Given the description of an element on the screen output the (x, y) to click on. 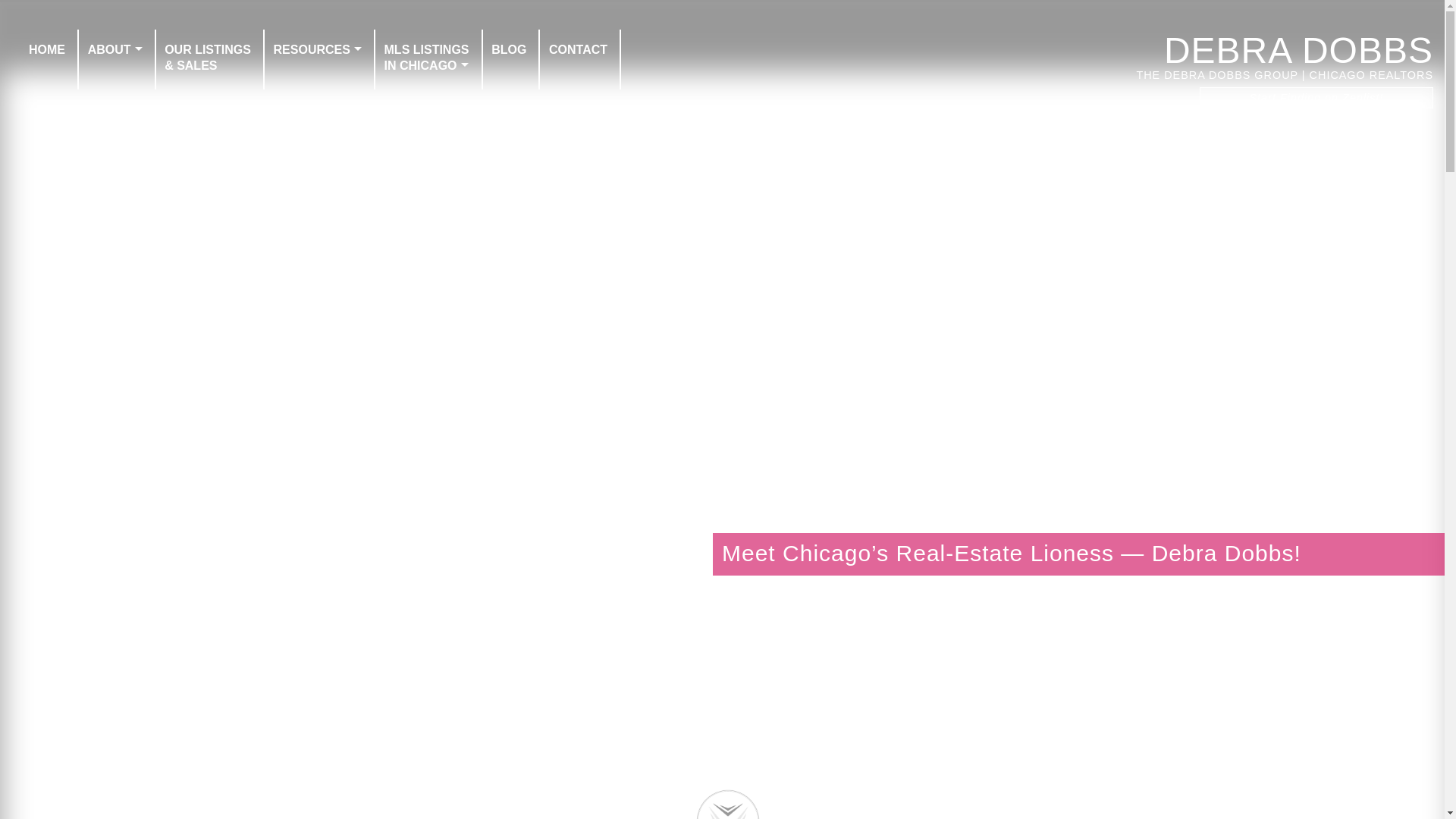
RESOURCES (426, 57)
HOME (317, 49)
ABOUT (47, 49)
